Given the description of an element on the screen output the (x, y) to click on. 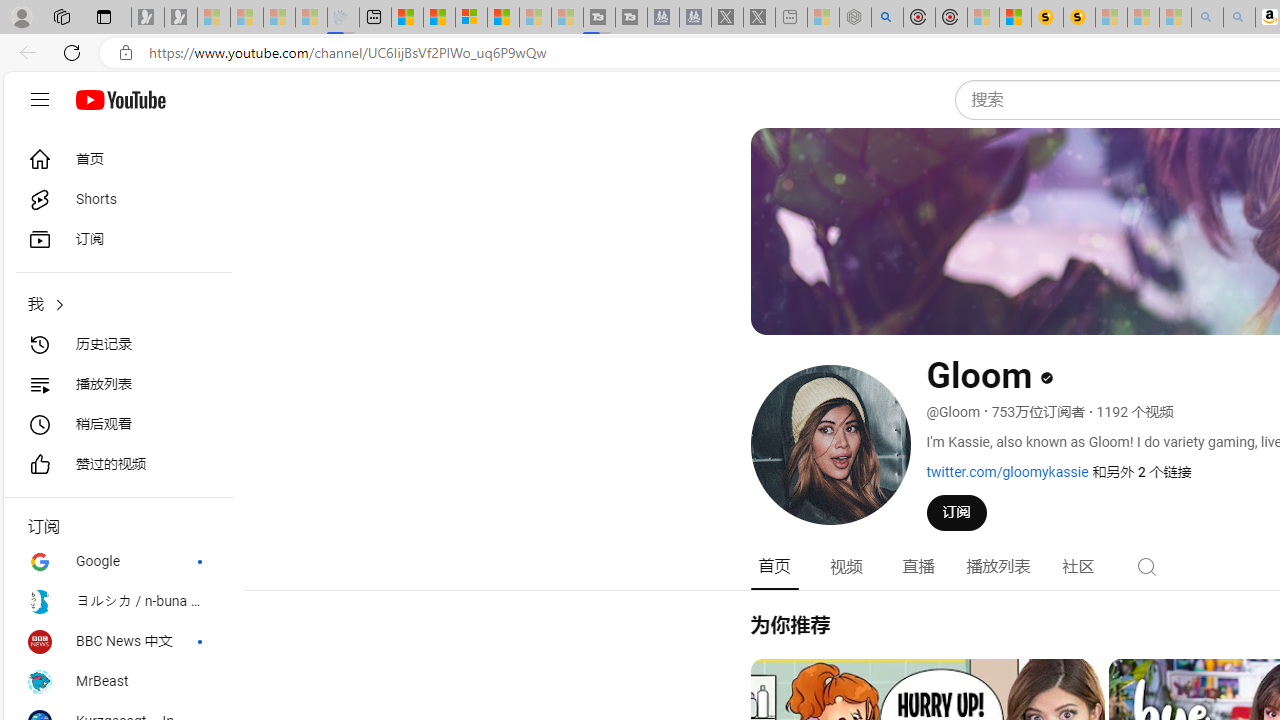
poe - Search (886, 17)
amazon - Search - Sleeping (1206, 17)
MrBeast (117, 681)
Shorts (117, 200)
New tab (374, 17)
Michelle Starr, Senior Journalist at ScienceAlert (1078, 17)
